Given the description of an element on the screen output the (x, y) to click on. 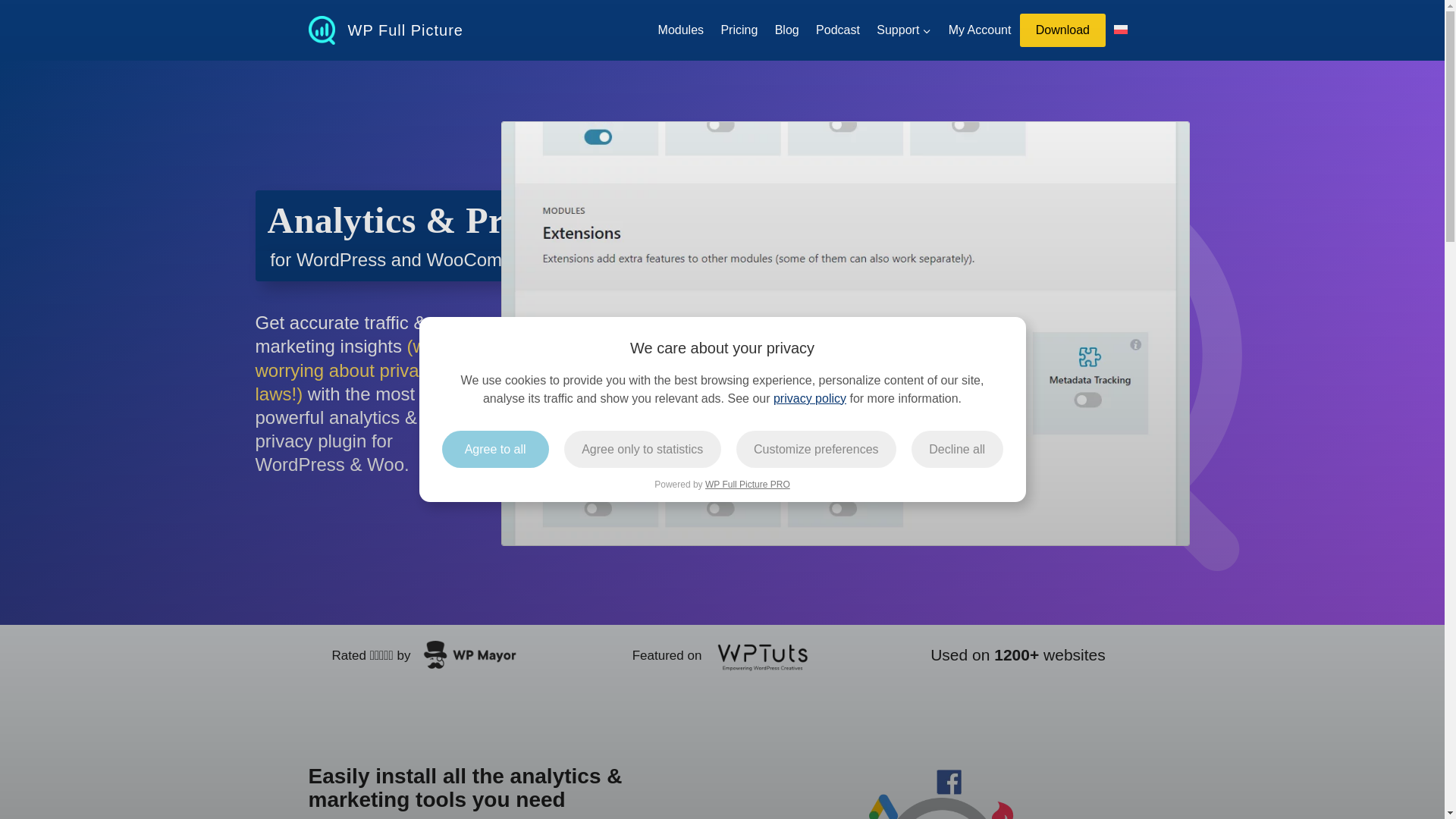
Decline all (957, 449)
My Account (980, 29)
Agree only to statistics (642, 449)
Customize preferences (816, 449)
Download (1063, 29)
Support (903, 29)
Home 2 (471, 655)
privacy policy (809, 398)
Pricing (738, 29)
